Given the description of an element on the screen output the (x, y) to click on. 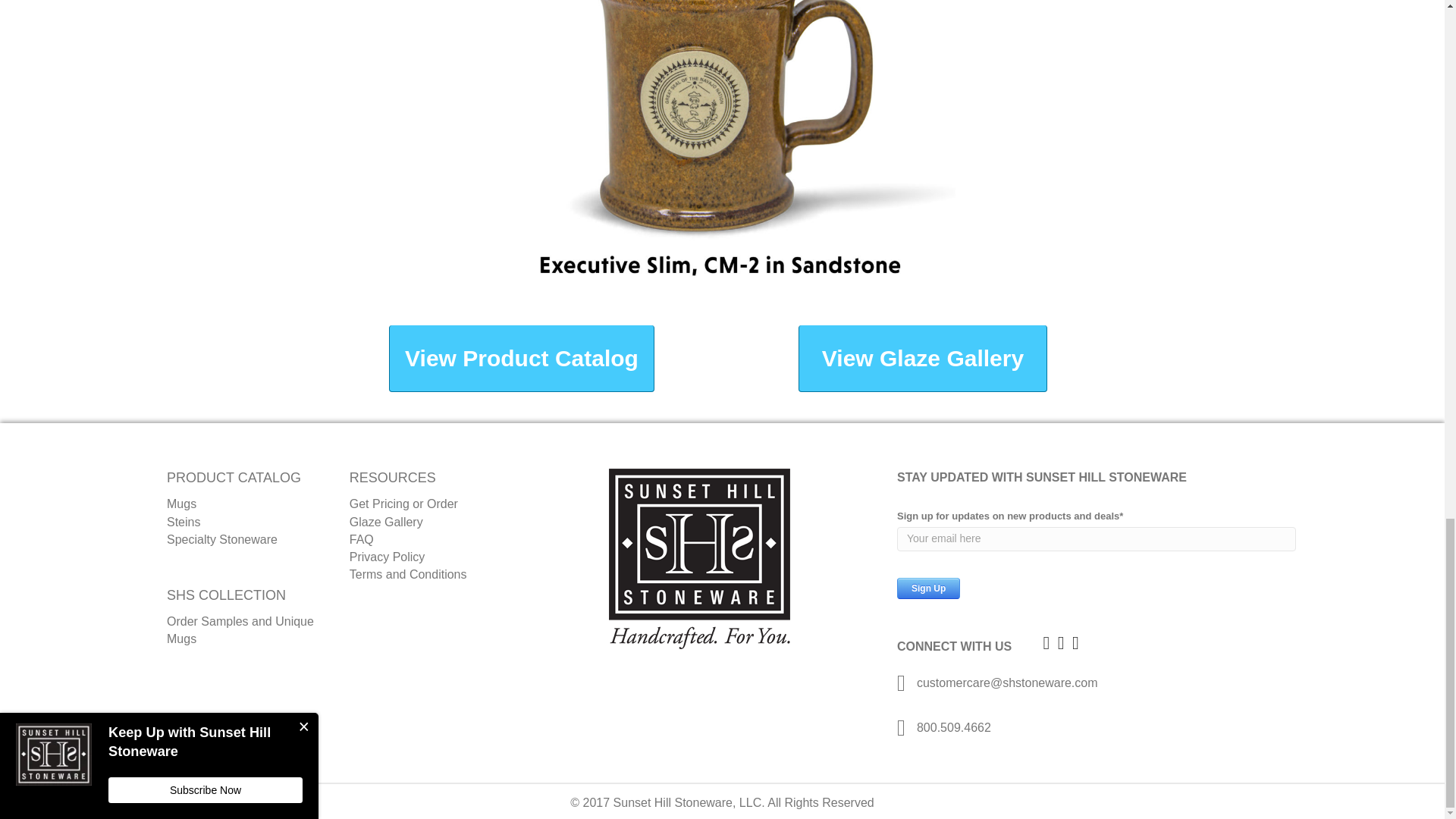
Product Catalog (234, 477)
Mugs (181, 503)
Order Samples and Unique Mugs (240, 630)
Sign Up (927, 588)
View Product Catalog (520, 358)
SHS COLLECTION (226, 595)
Steins (183, 521)
Specialty Stoneware (222, 539)
PRODUCT CATALOG (234, 477)
Get Pricing or Order (403, 503)
logo-footer (699, 558)
SHS Collection (226, 595)
View Glaze Gallery (921, 358)
